Given the description of an element on the screen output the (x, y) to click on. 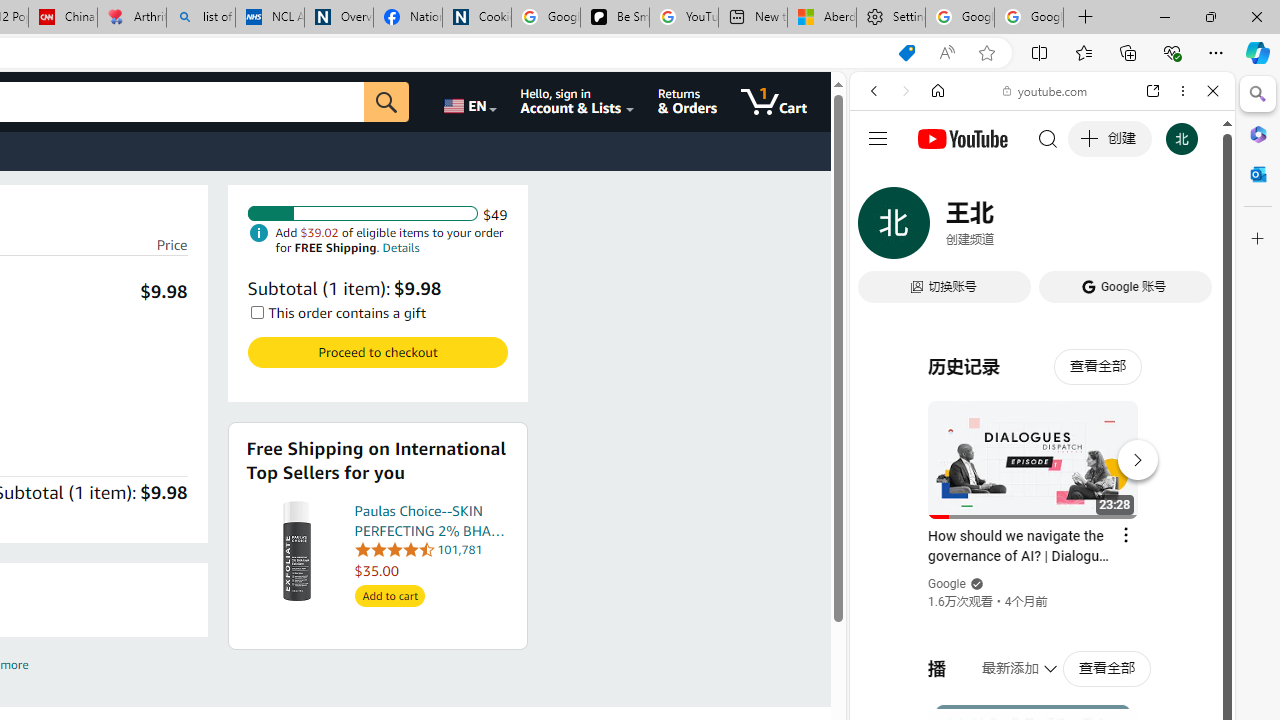
This order contains a gift (256, 312)
Returns & Orders (686, 101)
